Given the description of an element on the screen output the (x, y) to click on. 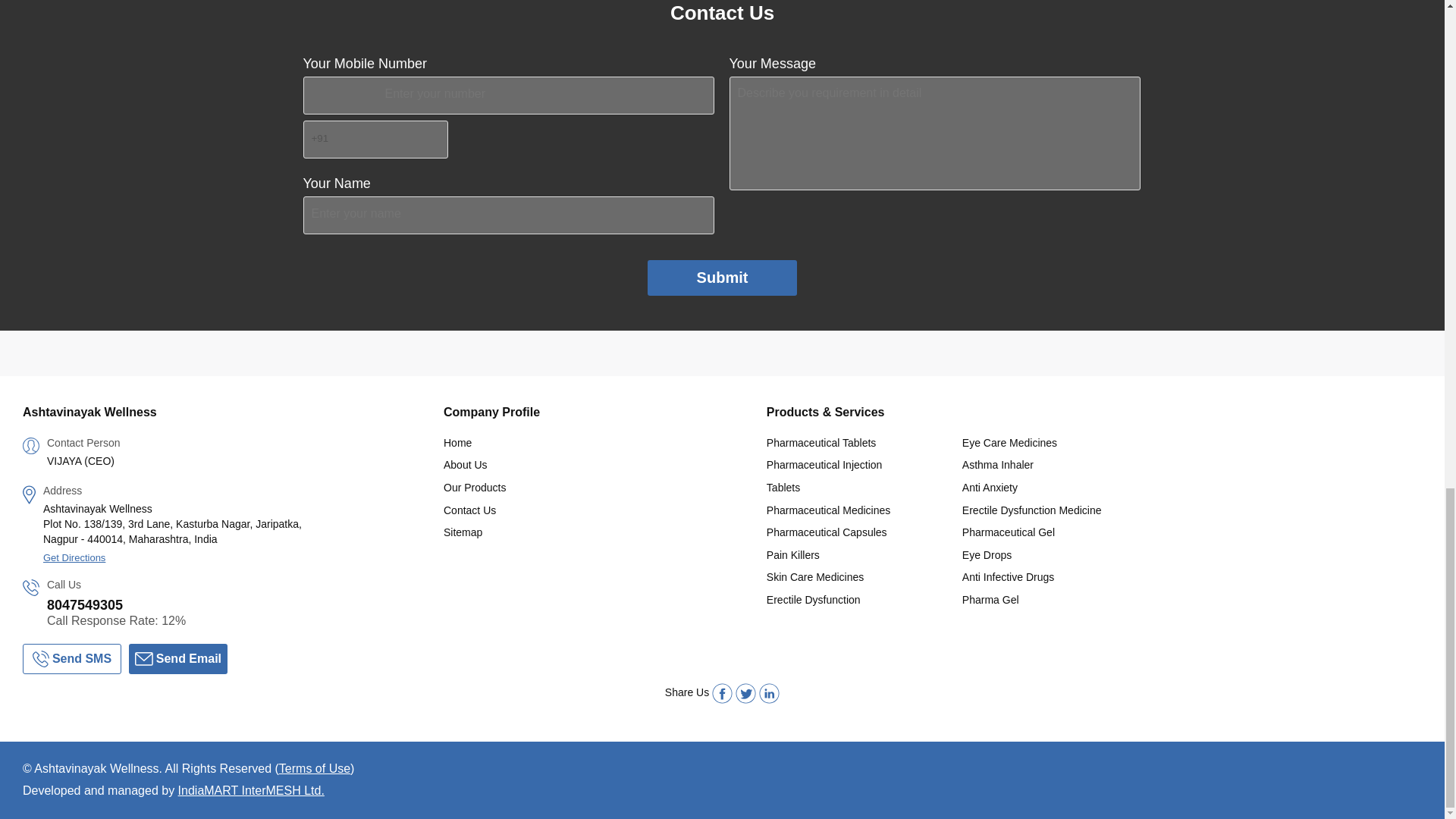
Submit (722, 277)
